Given the description of an element on the screen output the (x, y) to click on. 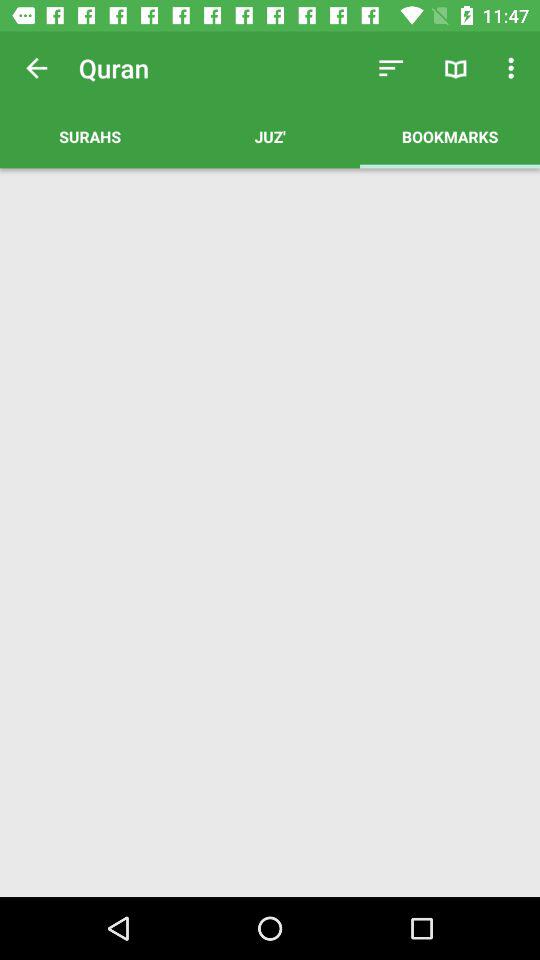
click the app to the right of surahs app (390, 67)
